Given the description of an element on the screen output the (x, y) to click on. 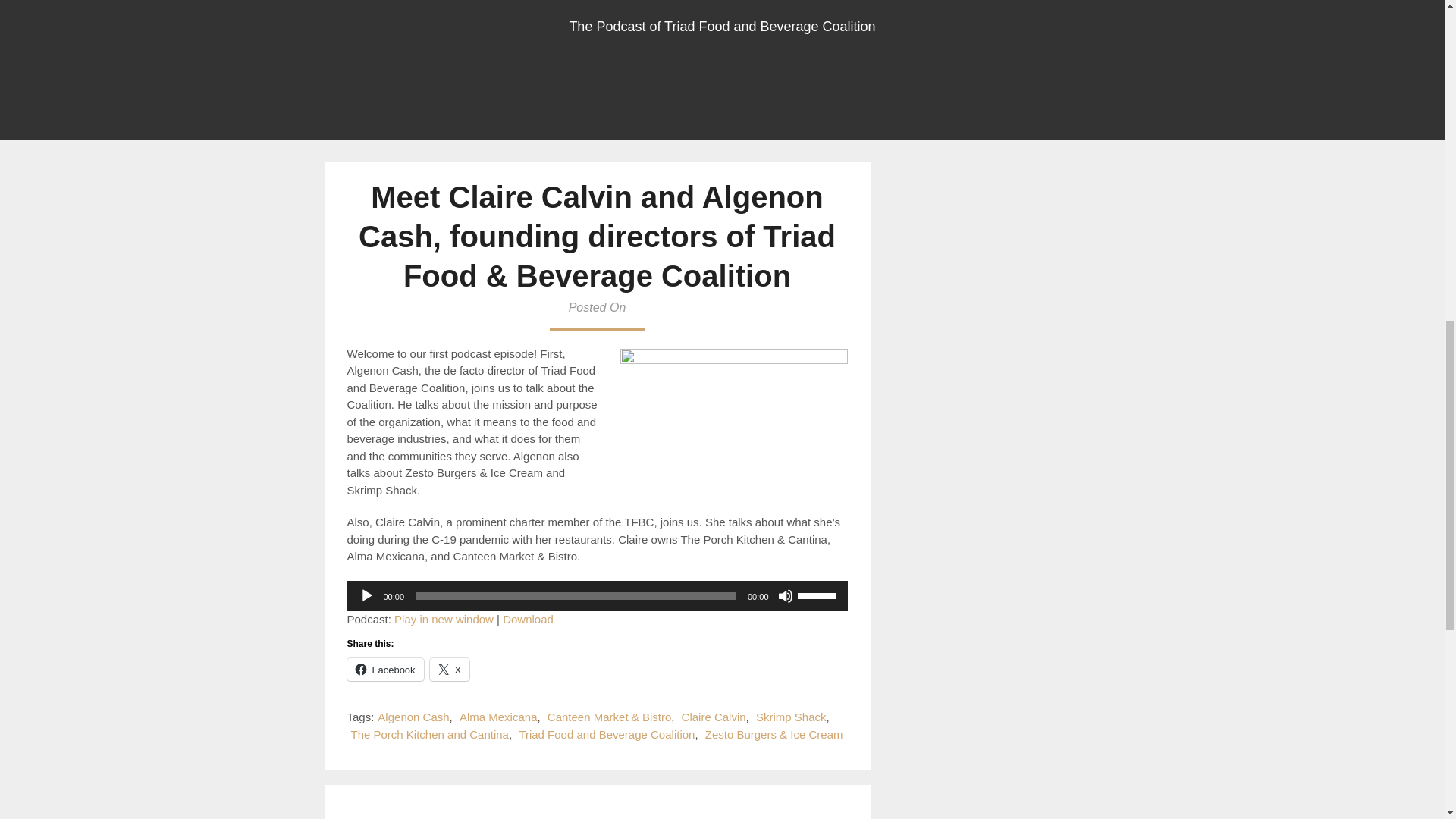
Play in new window (443, 618)
Download (527, 618)
The Porch Kitchen and Cantina (429, 734)
Triad Food and Beverage Coalition (606, 734)
Download (527, 618)
Alma Mexicana (498, 716)
X (449, 669)
Skrimp Shack (791, 716)
Facebook (385, 669)
Click to share on Facebook (385, 669)
Mute (785, 595)
Algenon Cash (412, 716)
Claire Calvin (713, 716)
Play in new window (443, 618)
Play (366, 595)
